Given the description of an element on the screen output the (x, y) to click on. 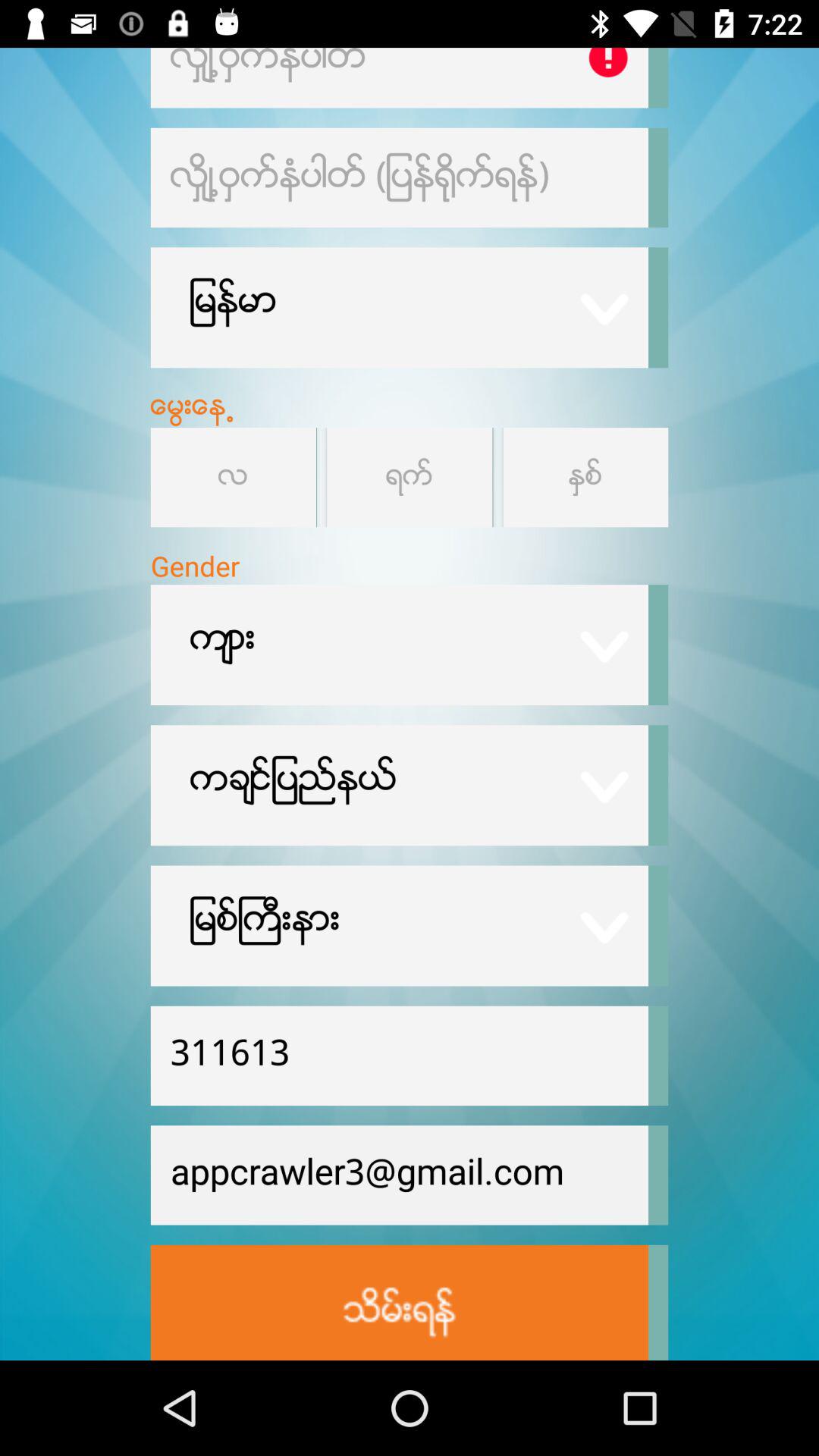
select category (409, 477)
